Given the description of an element on the screen output the (x, y) to click on. 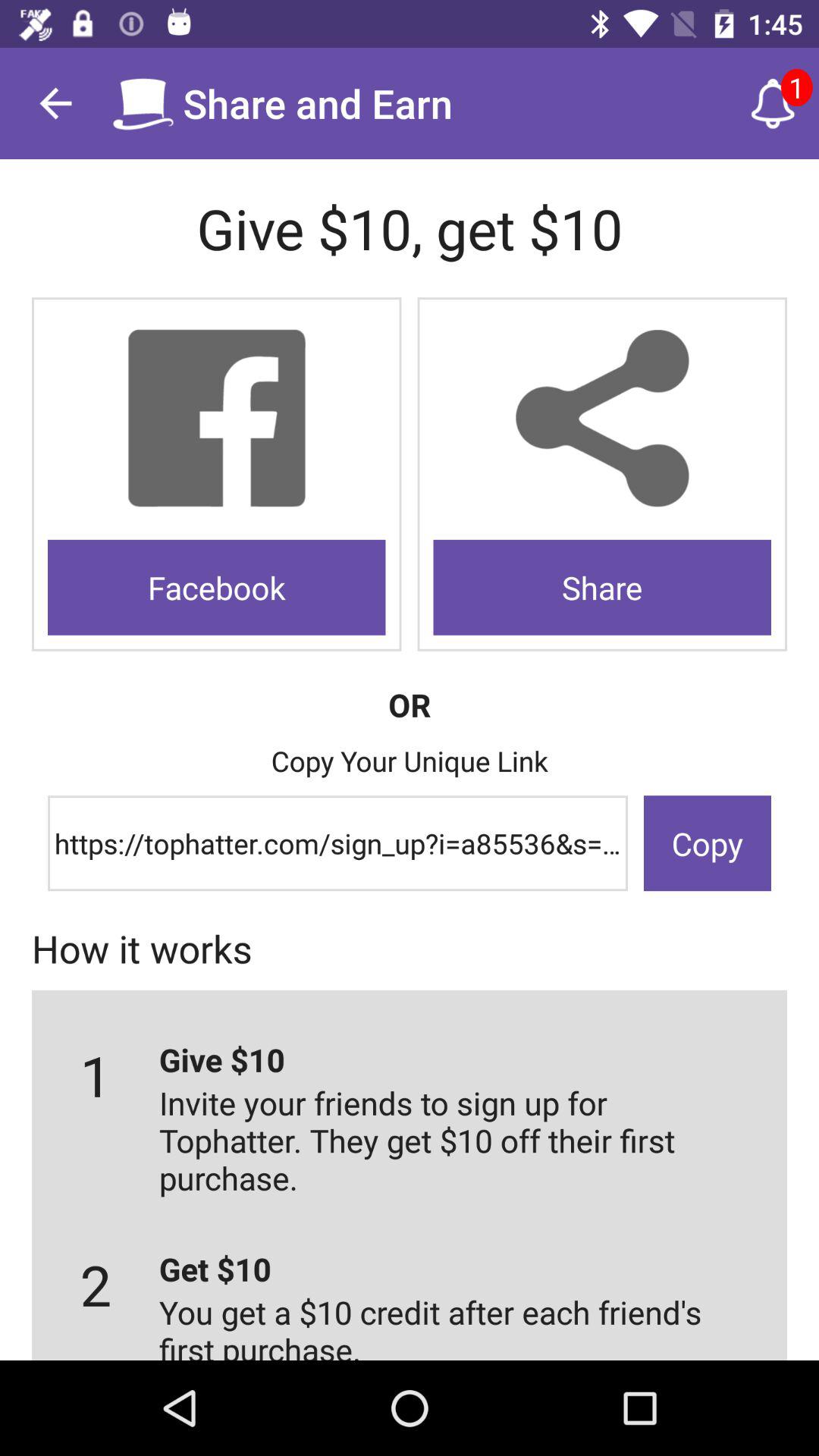
click share (602, 418)
